Given the description of an element on the screen output the (x, y) to click on. 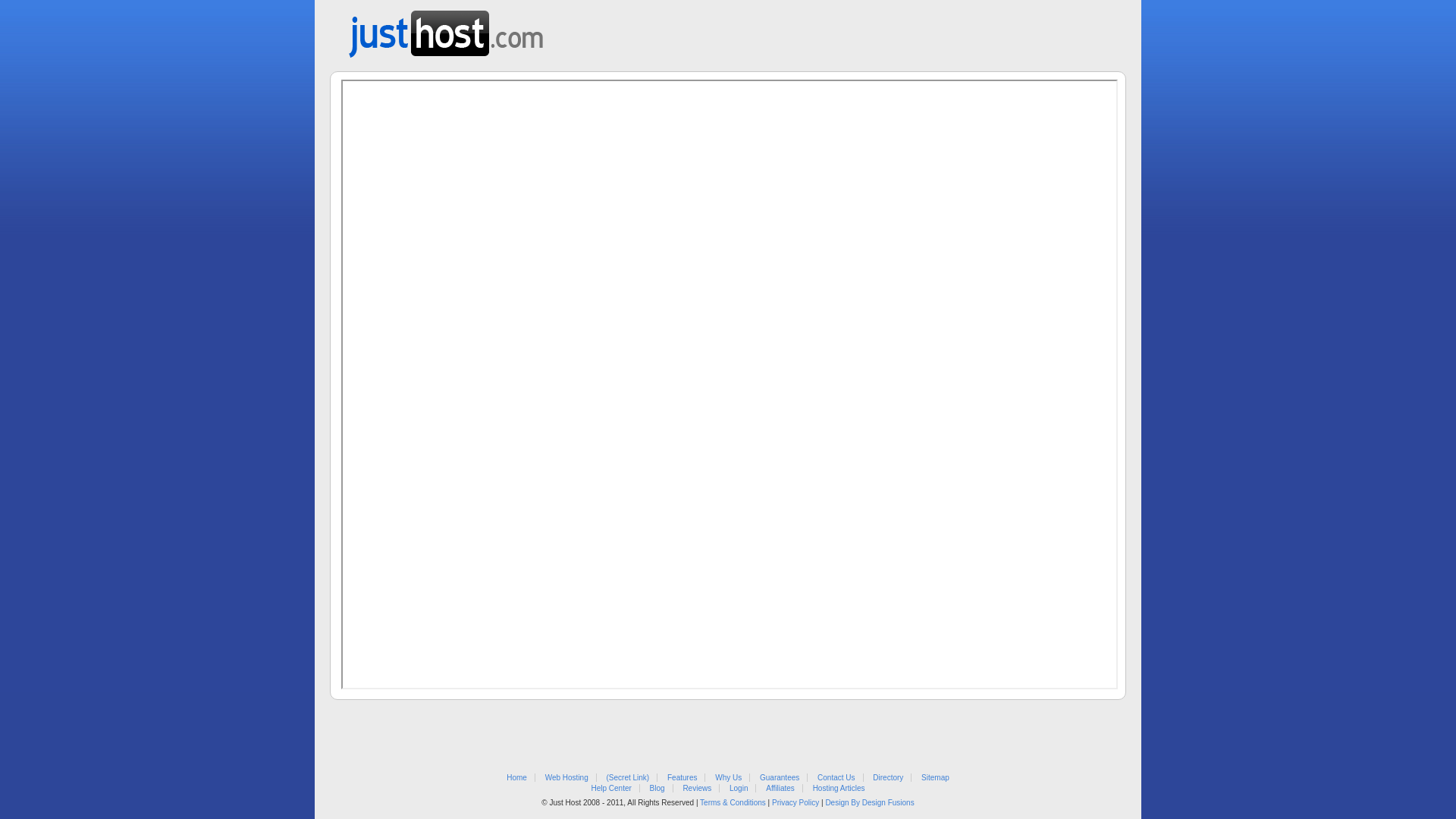
Hosting Articles Element type: text (838, 788)
Affiliates Element type: text (779, 788)
Sitemap Element type: text (935, 777)
Terms & Conditions Element type: text (732, 802)
Privacy Policy Element type: text (795, 802)
Features Element type: text (681, 777)
Why Us Element type: text (728, 777)
Design By Design Fusions Element type: text (869, 802)
Home Element type: text (516, 777)
Login Element type: text (738, 788)
Help Center Element type: text (610, 788)
Blog Element type: text (657, 788)
Guarantees Element type: text (779, 777)
Contact Us Element type: text (835, 777)
Directory Element type: text (887, 777)
Web Hosting Element type: text (566, 777)
Reviews Element type: text (696, 788)
Web Hosting from Just Host Element type: text (445, 28)
(Secret Link) Element type: text (627, 777)
